Given the description of an element on the screen output the (x, y) to click on. 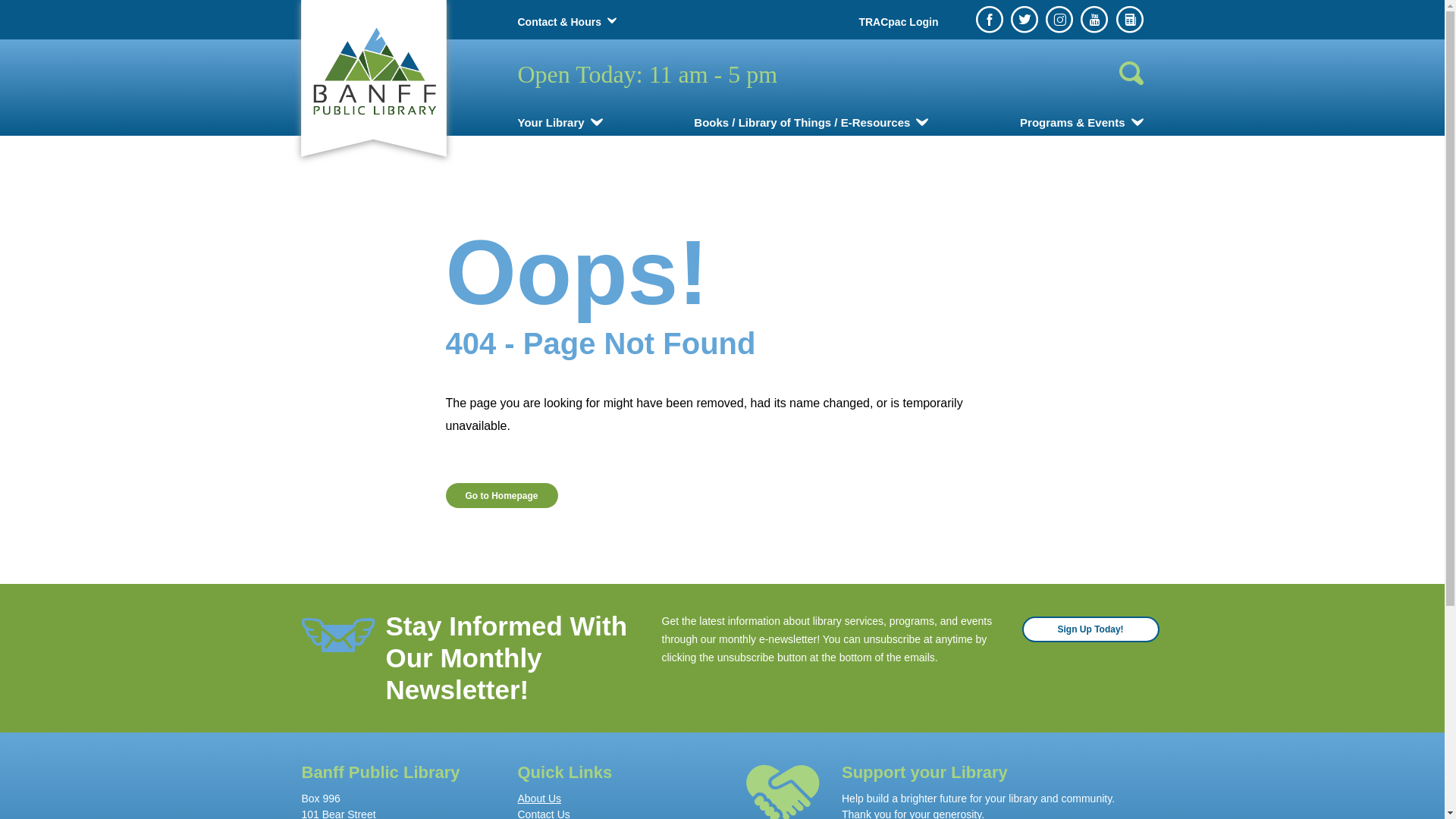
Youtube Element type: hover (1093, 19)
TRACpac Login Element type: text (898, 21)
Contact & Hours Element type: text (558, 21)
Your Library Element type: text (559, 122)
Newsletter sign up Element type: hover (1129, 19)
Facebook Element type: hover (989, 19)
Banff Public Library Element type: hover (372, 69)
About Us Element type: text (613, 798)
Programs & Events Element type: text (1080, 122)
Instagram Element type: hover (1059, 19)
Go to Homepage Element type: text (501, 495)
Twitter Element type: hover (1024, 19)
Sign Up Today! Element type: text (1090, 629)
Books / Library of Things / E-Resources Element type: text (810, 122)
